Given the description of an element on the screen output the (x, y) to click on. 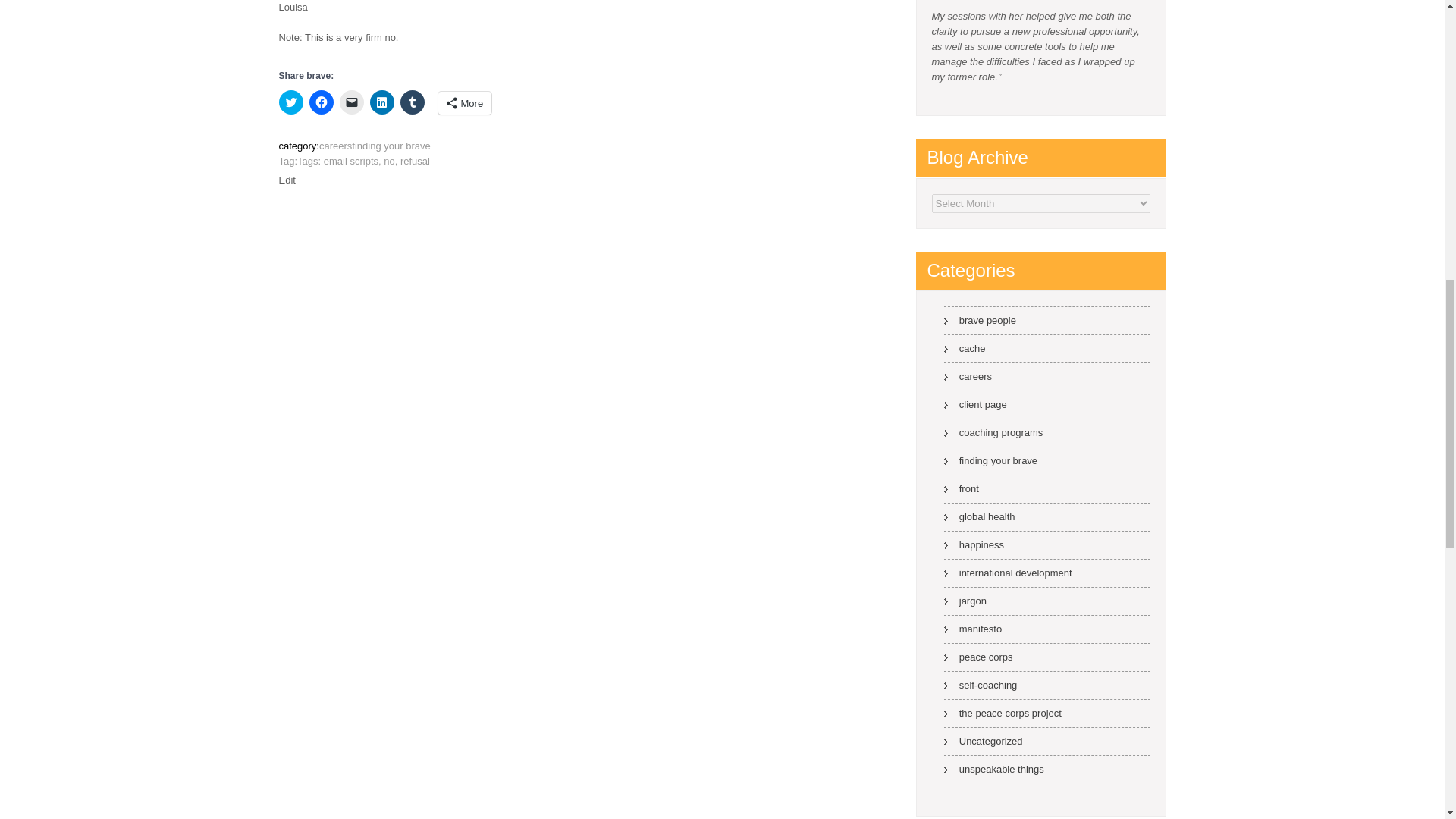
happiness (973, 544)
Click to share on Tumblr (412, 102)
cache (964, 347)
email scripts (350, 161)
front (960, 488)
refusal (414, 161)
Click to share on Twitter (290, 102)
More (465, 102)
international development (1007, 572)
no (389, 161)
